Given the description of an element on the screen output the (x, y) to click on. 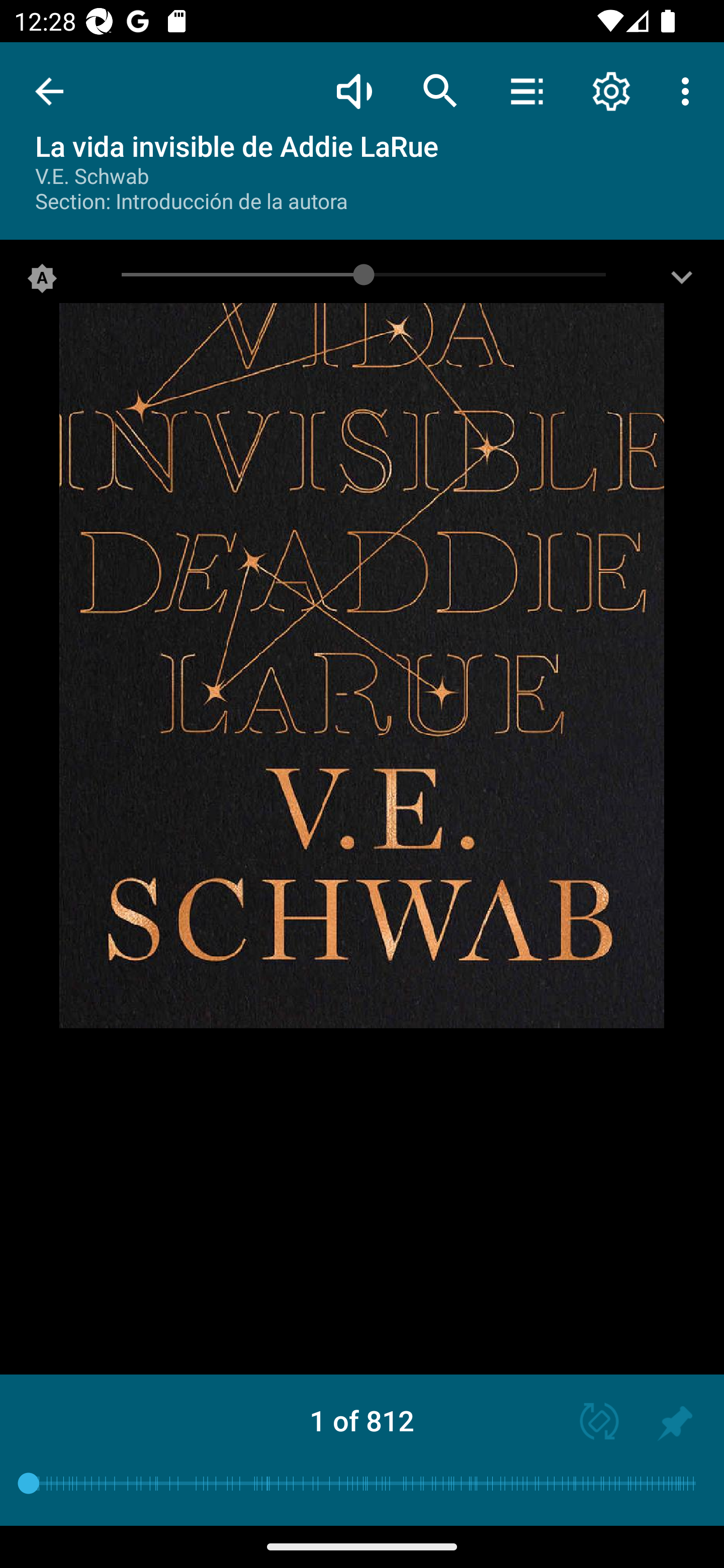
Exit reading (49, 91)
Read aloud (354, 90)
Text search (440, 90)
Contents / Bookmarks / Quotes (526, 90)
Reading settings (611, 90)
More options (688, 90)
Selected screen brightness (42, 281)
Screen brightness settings (681, 281)
1 of 812 (361, 1420)
Screen orientation (590, 1423)
Add to history (674, 1423)
